Given the description of an element on the screen output the (x, y) to click on. 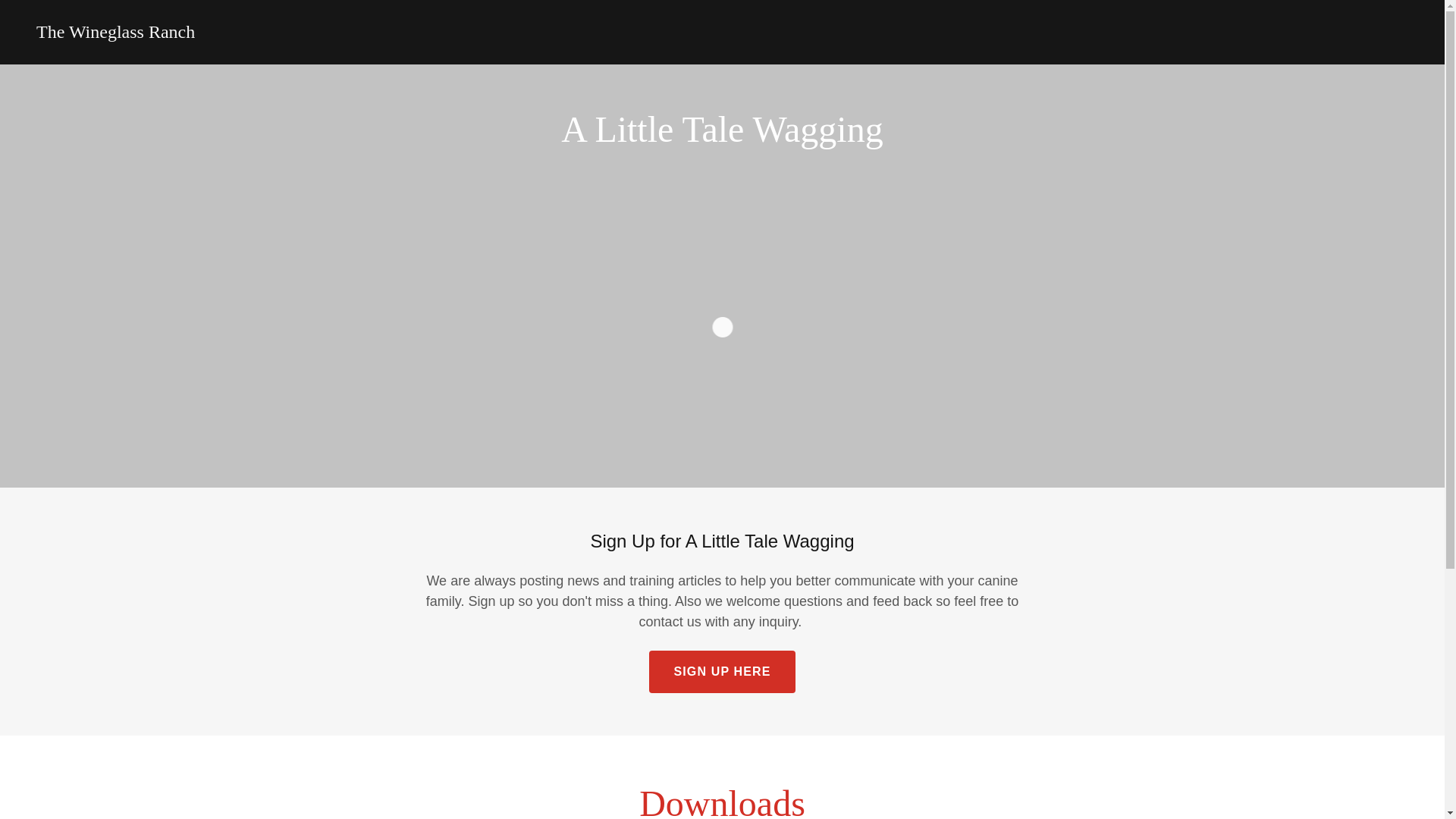
SIGN UP HERE (721, 671)
The Wineglass Ranch (115, 32)
The Wineglass Ranch (115, 32)
